Given the description of an element on the screen output the (x, y) to click on. 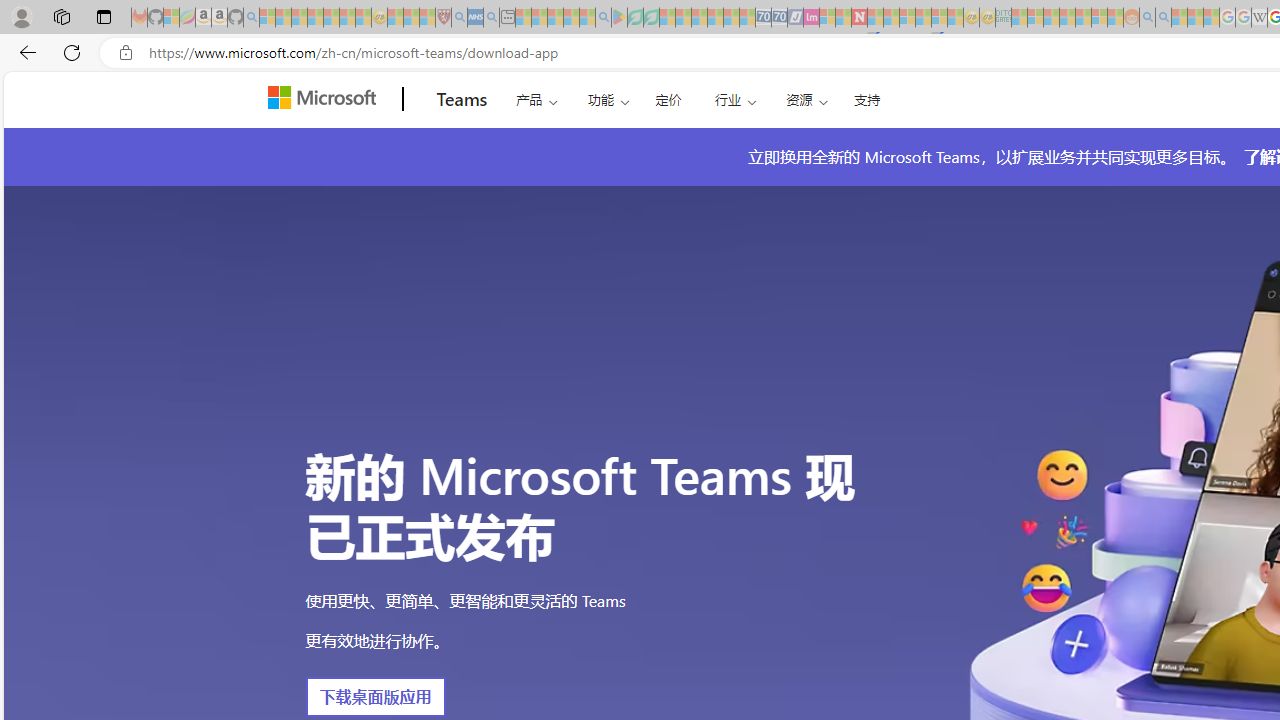
Cheap Hotels - Save70.com - Sleeping (779, 17)
MSNBC - MSN - Sleeping (1019, 17)
DITOGAMES AG Imprint - Sleeping (1003, 17)
Pets - MSN - Sleeping (571, 17)
Teams (461, 99)
